Given the description of an element on the screen output the (x, y) to click on. 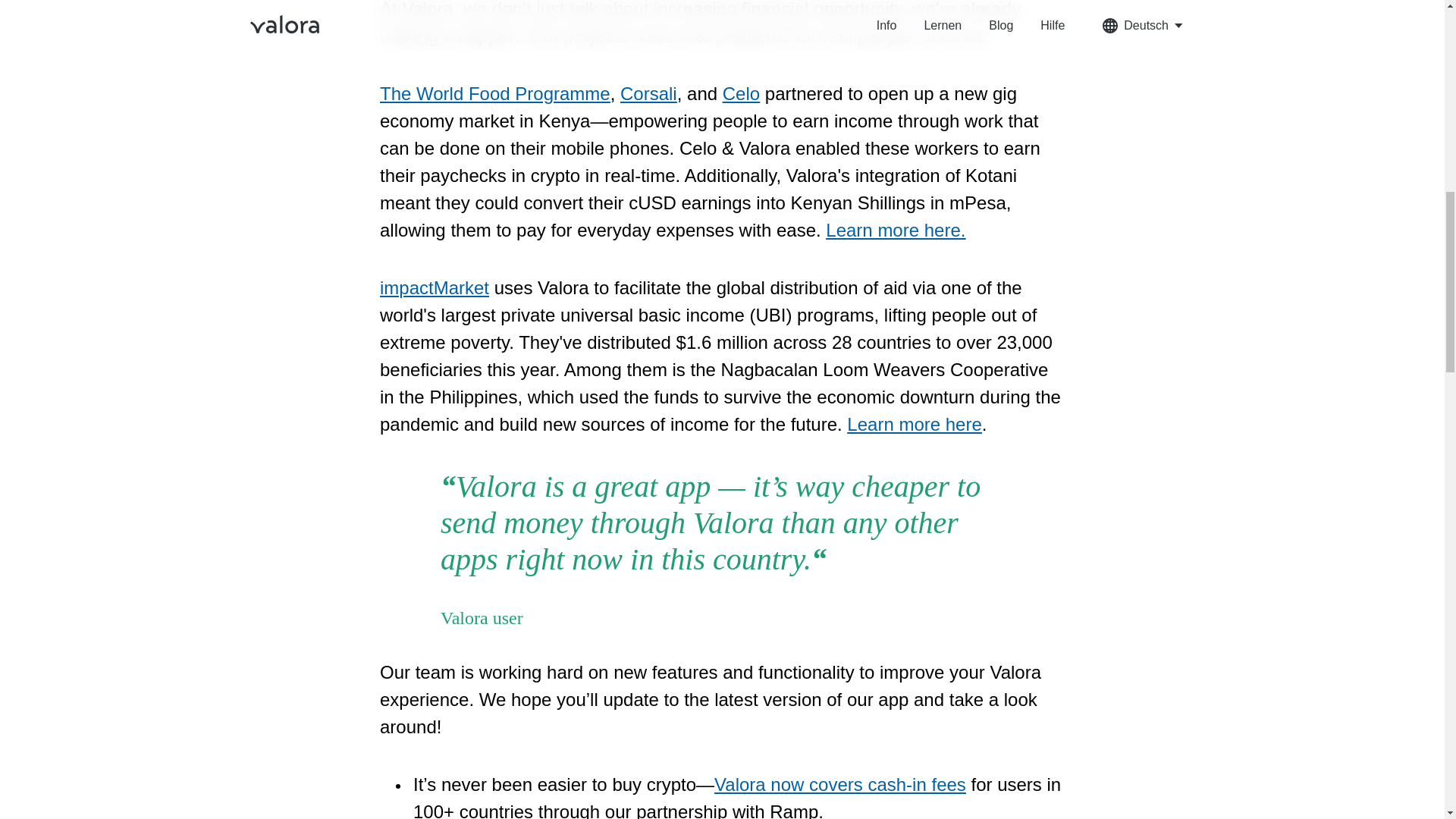
Celo (741, 93)
Corsali (648, 93)
The World Food Programme (495, 93)
impactMarket (434, 287)
Learn more here. (895, 230)
Valora now covers cash-in fees (840, 783)
Learn more here (914, 424)
